Given the description of an element on the screen output the (x, y) to click on. 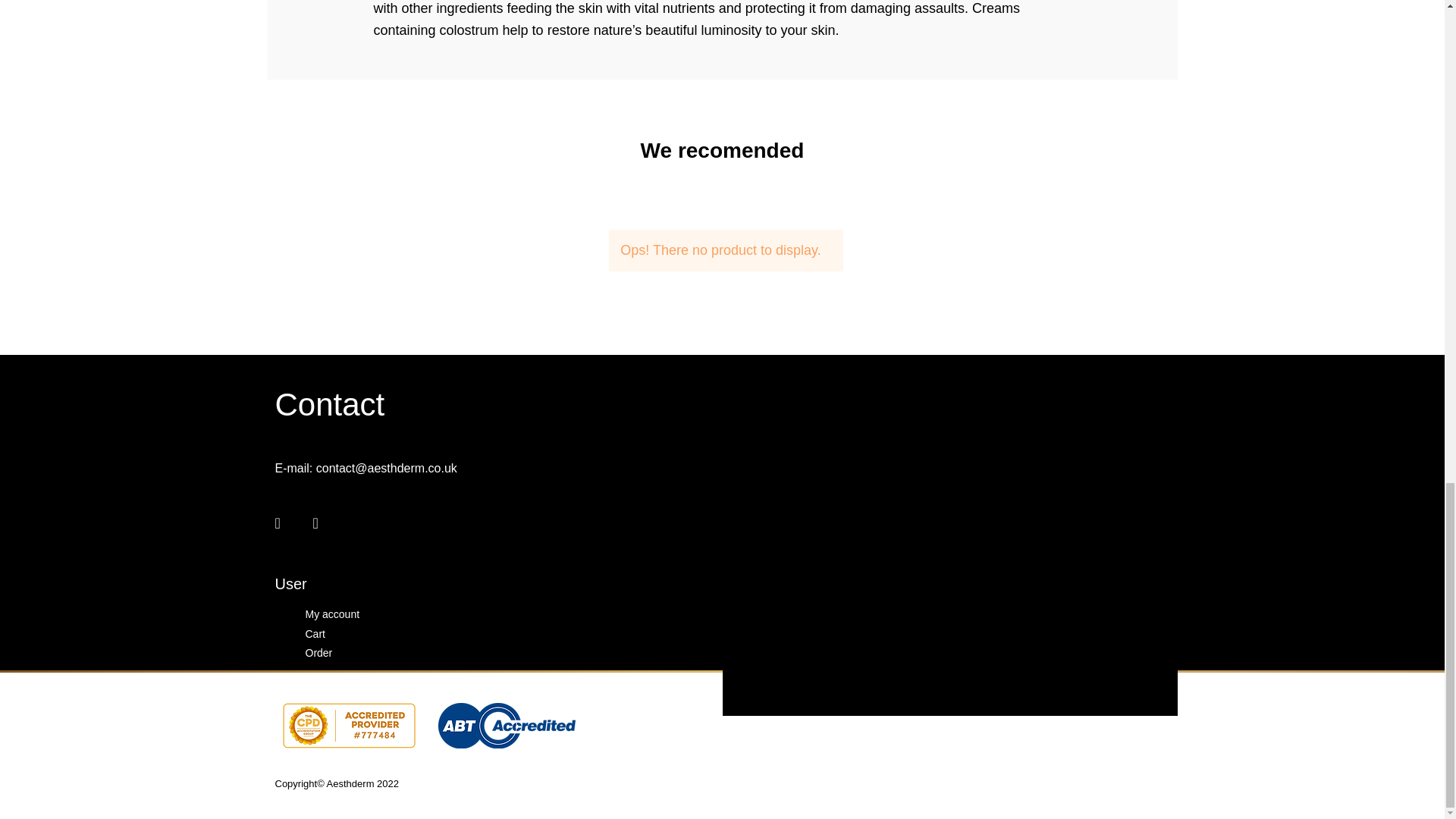
Order (317, 653)
My account (331, 613)
Cart (314, 633)
